Given the description of an element on the screen output the (x, y) to click on. 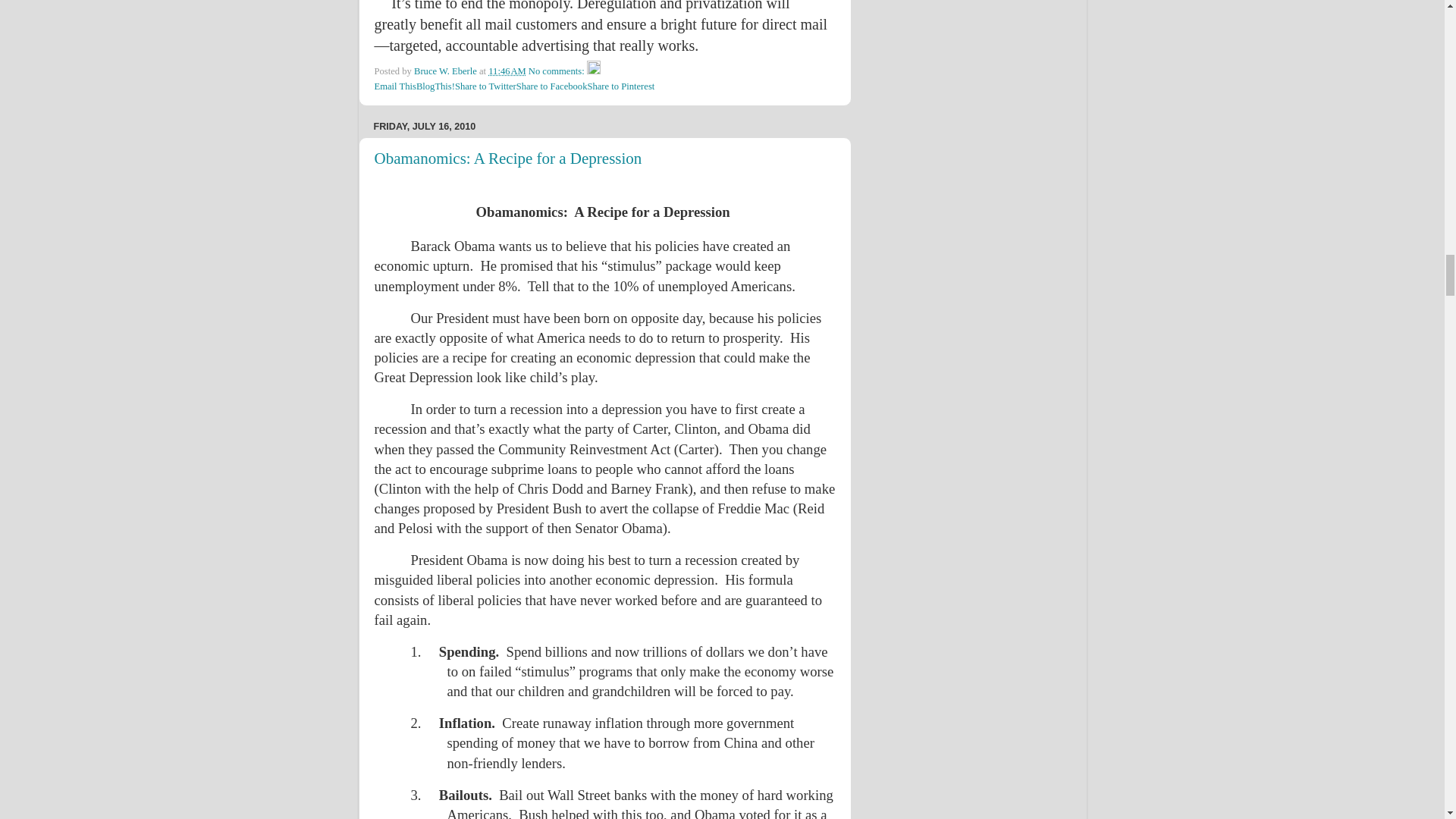
BlogThis! (435, 86)
Email This (395, 86)
Share to Pinterest (619, 86)
permanent link (506, 71)
Obamanomics: A Recipe for a Depression (508, 158)
No comments: (557, 71)
Share to Facebook (552, 86)
Bruce W. Eberle (446, 71)
Edit Post (592, 71)
Email This (395, 86)
BlogThis! (435, 86)
author profile (446, 71)
Share to Twitter (485, 86)
